Given the description of an element on the screen output the (x, y) to click on. 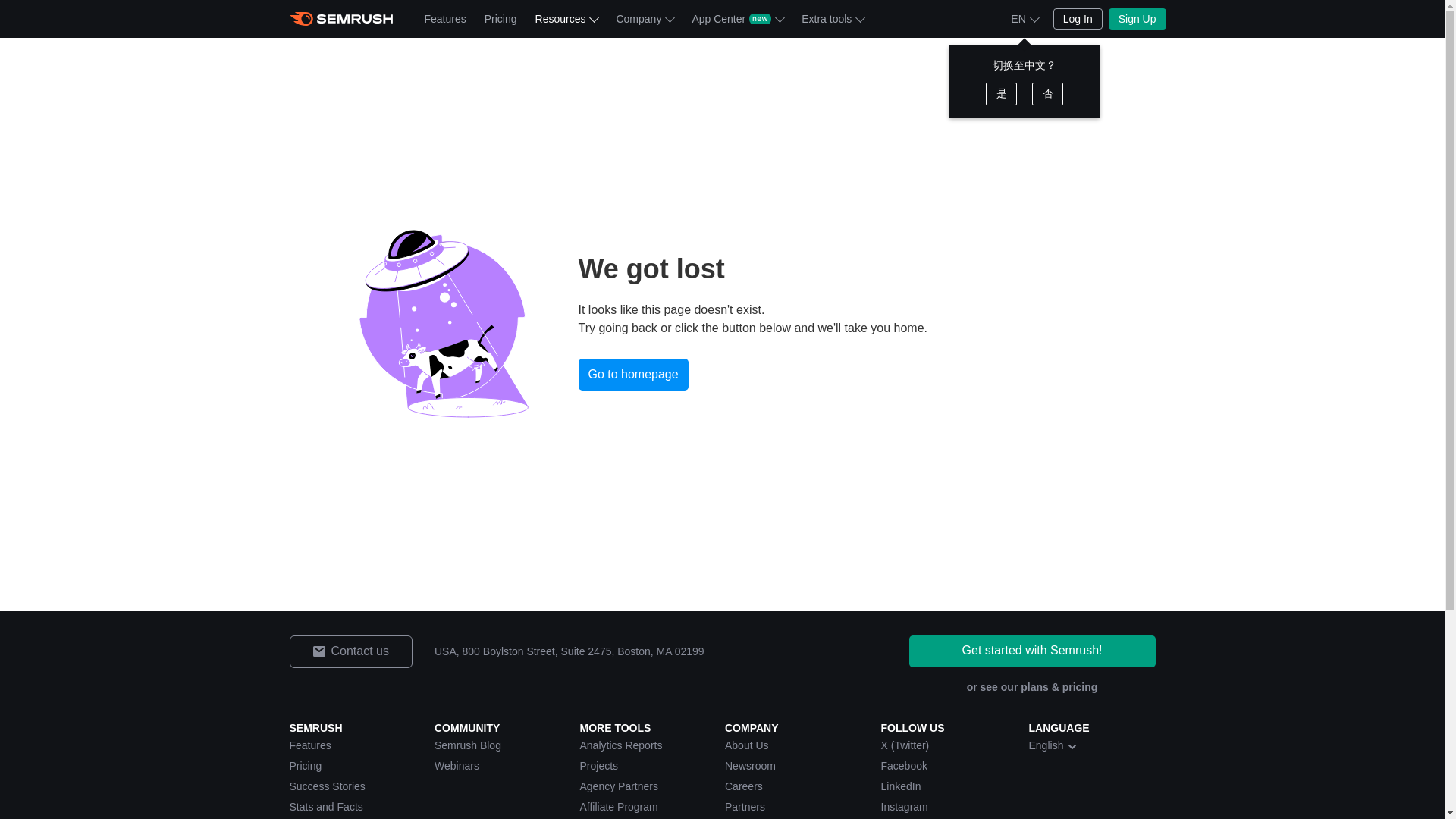
Resources (566, 18)
Pricing (500, 18)
Extra tools (832, 18)
Company (644, 18)
Features (445, 18)
App Center (737, 18)
